Given the description of an element on the screen output the (x, y) to click on. 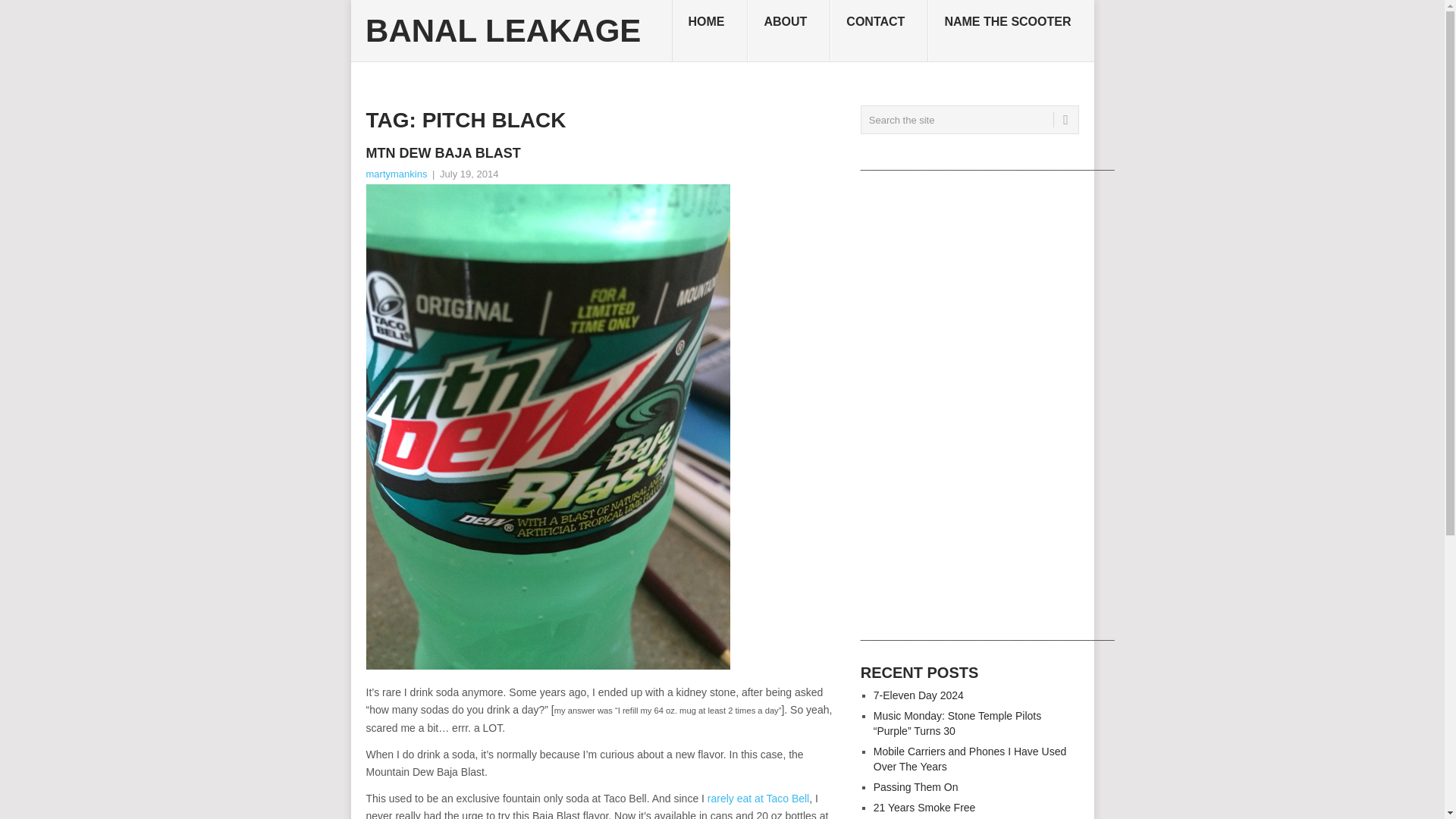
21 Years Smoke Free (924, 807)
NAME THE SCOOTER (1010, 31)
CONTACT (878, 31)
rarely eat at Taco Bell (758, 798)
HOME (709, 31)
taco-bell-doritos-locos-tacos (758, 798)
martymankins (395, 173)
BANAL LEAKAGE (502, 30)
Search the site (969, 119)
7-Eleven Day 2024 (918, 695)
Posts by martymankins (395, 173)
Mobile Carriers and Phones I Have Used Over The Years (969, 759)
Passing Them On (915, 787)
MTN DEW BAJA BLAST (601, 153)
Mtn Dew Baja Blast (601, 153)
